Given the description of an element on the screen output the (x, y) to click on. 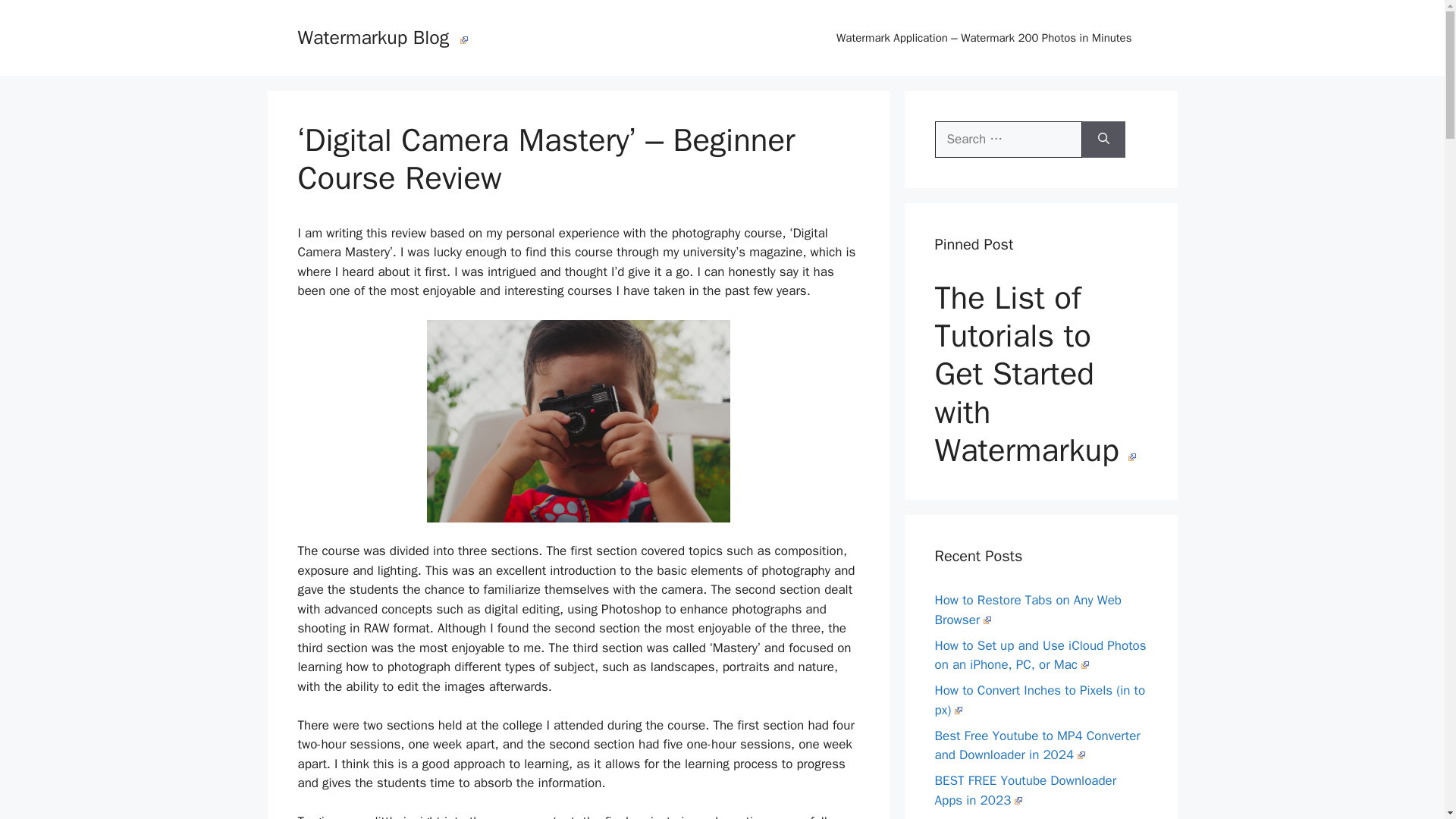
How to Restore Tabs on Any Web Browser (1027, 610)
Watermarkup Blog (382, 37)
Search for: (1007, 139)
The List of Tutorials to Get Started with Watermarkup (1034, 373)
Best Free Youtube to MP4 Converter and Downloader in 2024 (1037, 745)
BEST FREE Youtube Downloader Apps in 2023 (1025, 790)
How to Set up and Use iCloud Photos on an iPhone, PC, or Mac (1039, 655)
Digital Camera Mastery (577, 421)
